Given the description of an element on the screen output the (x, y) to click on. 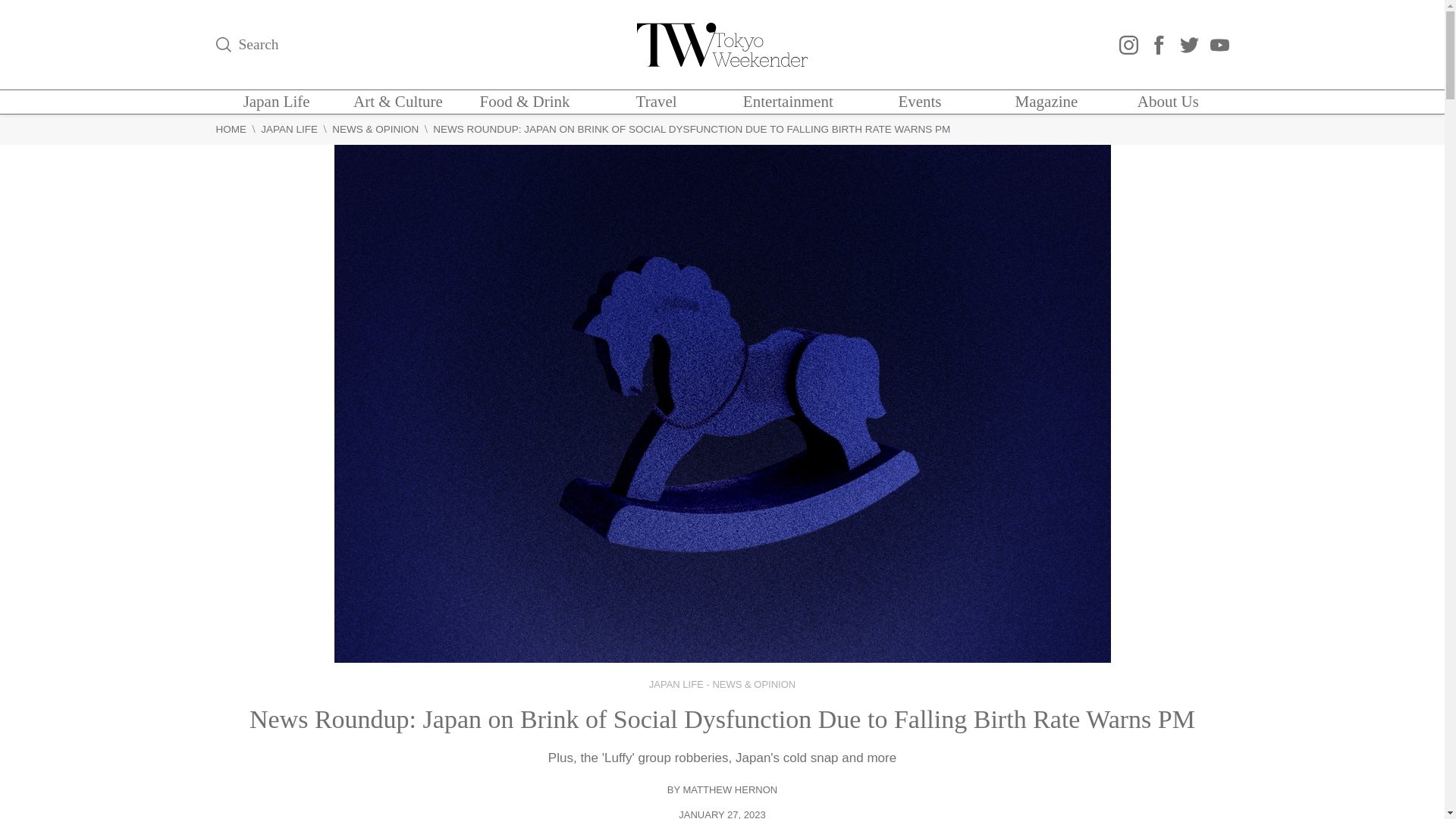
Events (919, 101)
Japan Life (276, 101)
About Us (1167, 101)
Travel (656, 101)
Entertainment (787, 101)
Magazine (1046, 101)
